Given the description of an element on the screen output the (x, y) to click on. 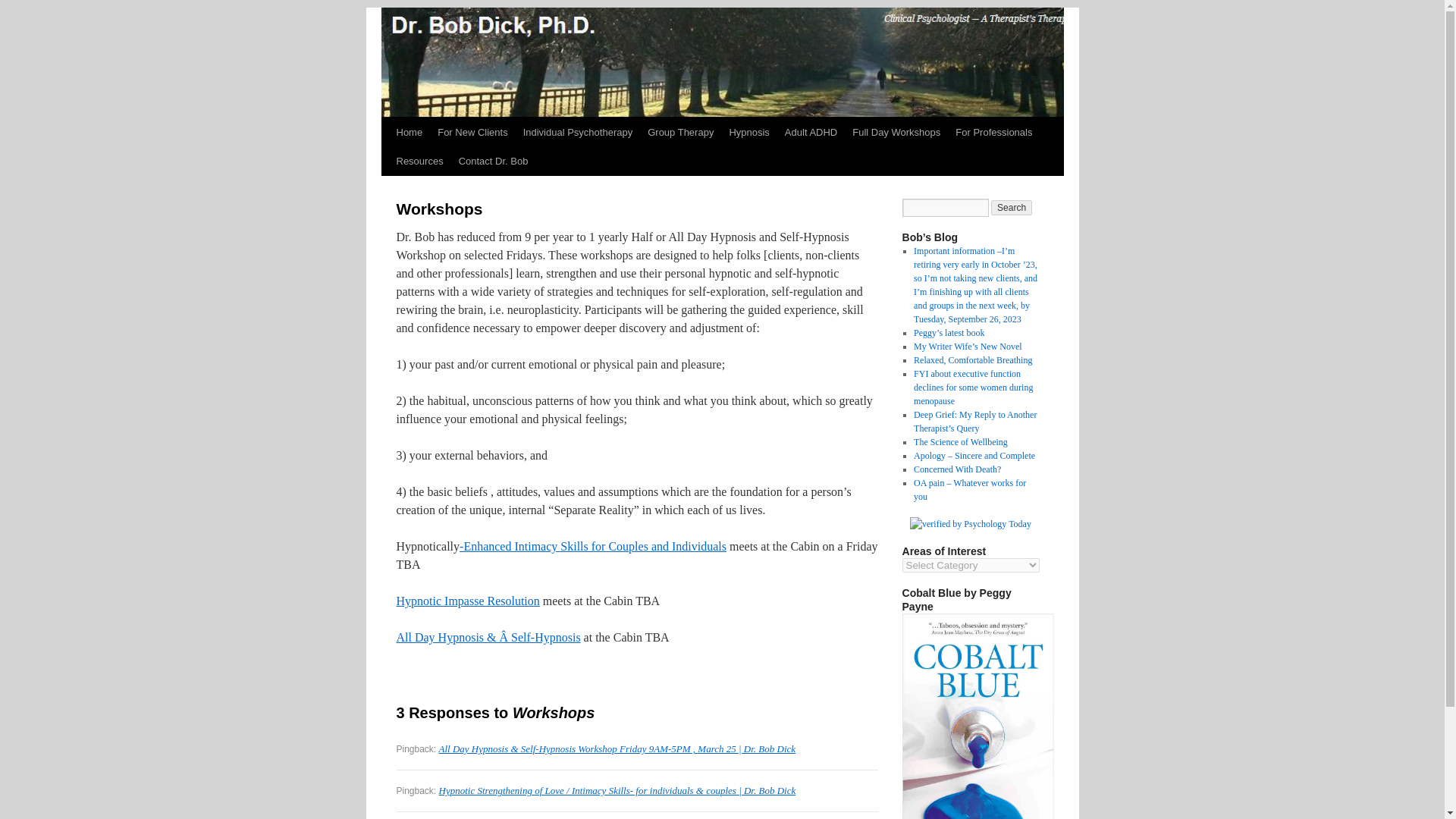
Home (408, 132)
verified by Psychology Today (970, 523)
Full Day Workshops (895, 132)
Group Therapy (680, 132)
Individual Psychotherapy (577, 132)
Hypnosis (748, 132)
For New Clients (472, 132)
Search (1011, 207)
Adult ADHD (810, 132)
